Given the description of an element on the screen output the (x, y) to click on. 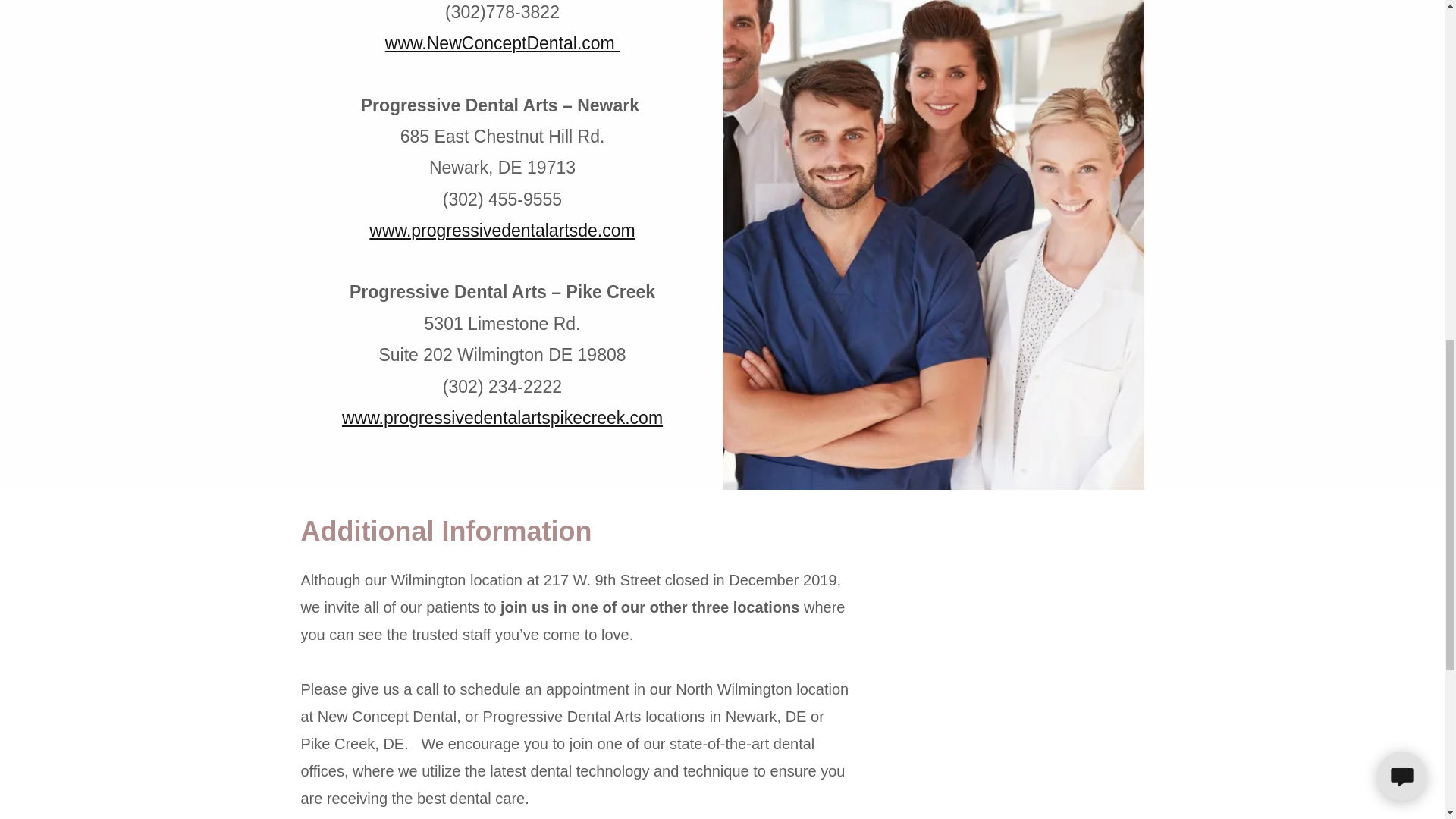
www.progressivedentalartsde.com (501, 230)
www.NewConceptDental.com  (502, 43)
www.progressivedentalartspikecreek.com (502, 417)
